Given the description of an element on the screen output the (x, y) to click on. 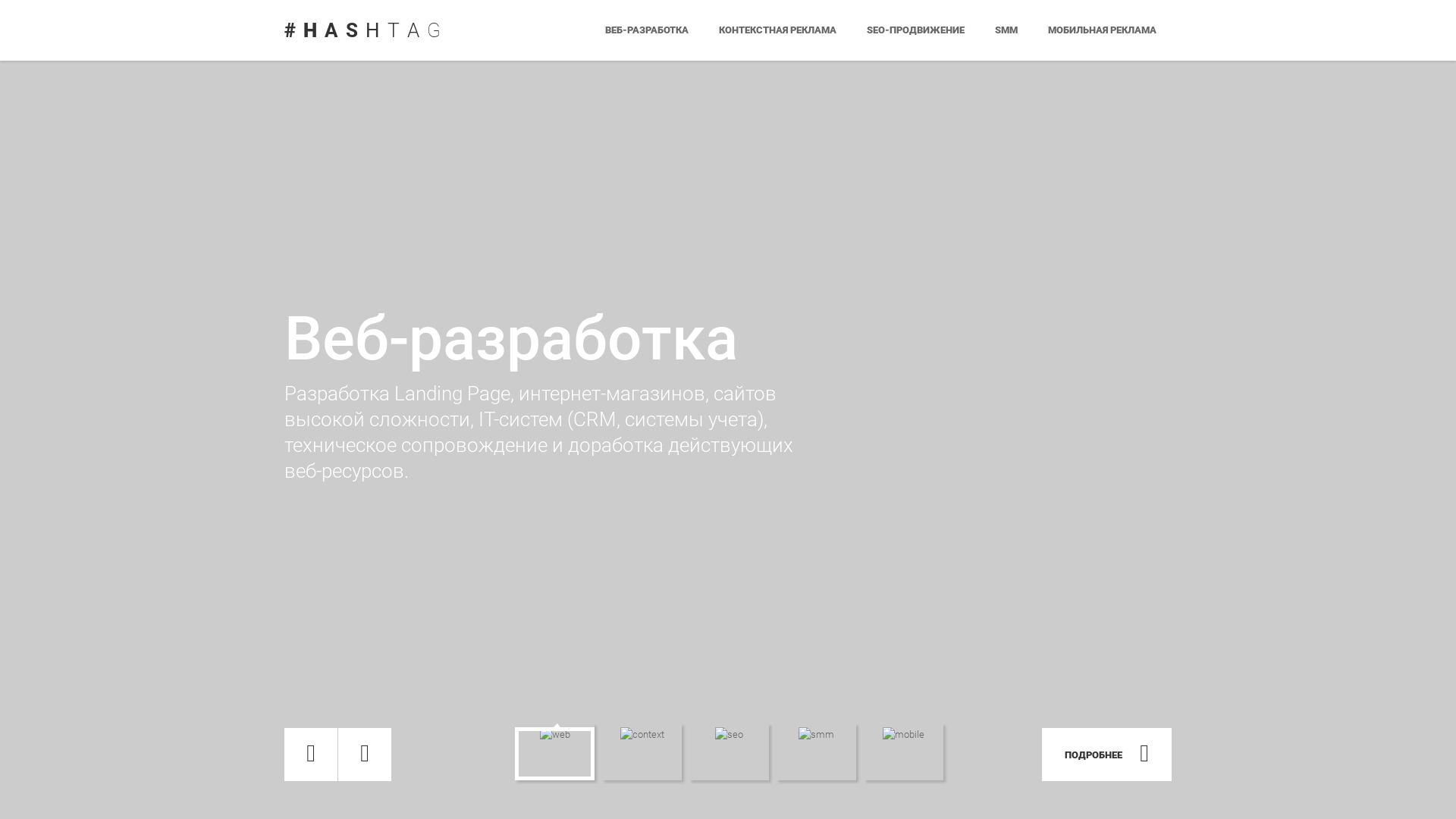
#HASHTAG Element type: text (366, 29)
info@hashtag.by Element type: text (955, 704)
SMM Element type: text (1005, 30)
+375(44)575-25-01 Element type: text (975, 727)
